Given the description of an element on the screen output the (x, y) to click on. 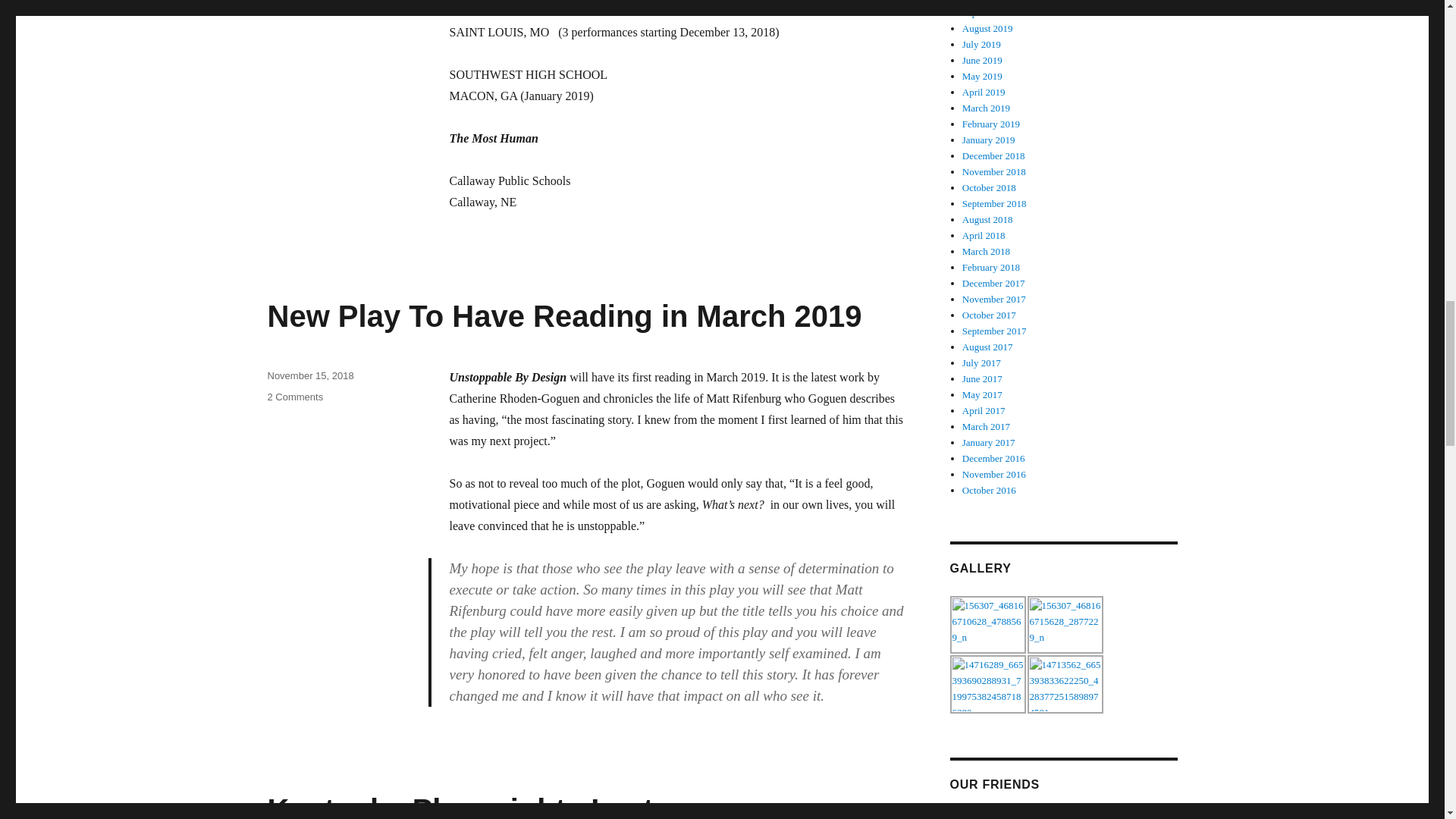
November 15, 2018 (309, 375)
New Play To Have Reading in March 2019 (563, 315)
